Given the description of an element on the screen output the (x, y) to click on. 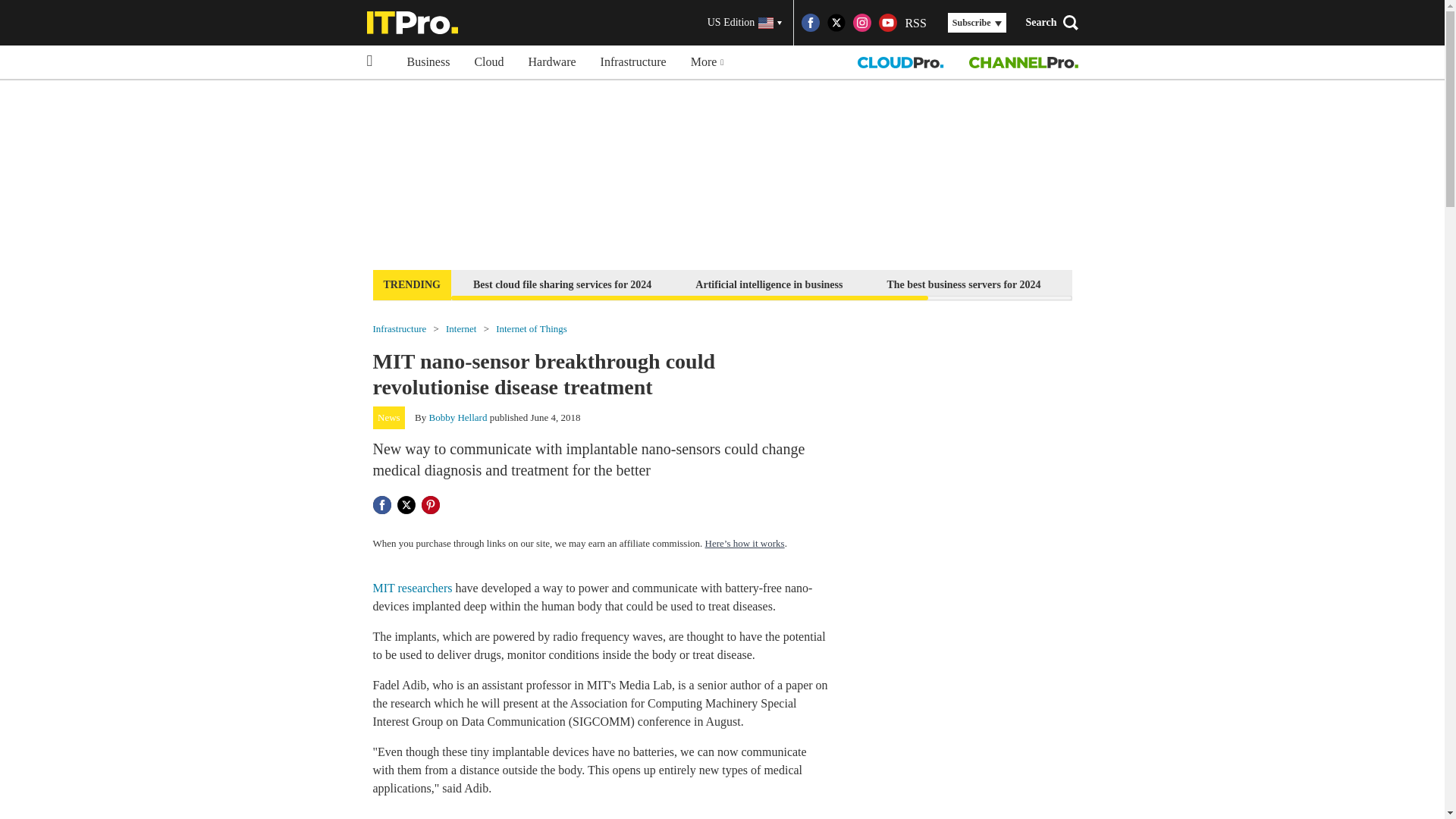
The best business servers for 2024 (962, 284)
Internet of Things (531, 327)
RSS (915, 22)
Best cloud file sharing services for 2024 (561, 284)
Subscribe to the ITPro newsletter (1161, 284)
Cloud (488, 61)
Bobby Hellard (458, 417)
Hardware (552, 61)
US Edition (745, 22)
News (389, 417)
